Given the description of an element on the screen output the (x, y) to click on. 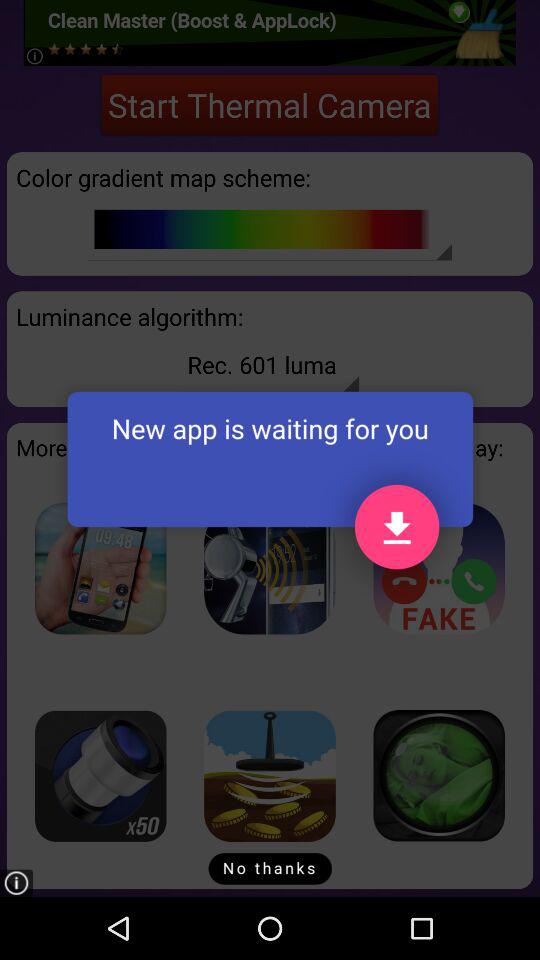
click advertisement (100, 568)
